Given the description of an element on the screen output the (x, y) to click on. 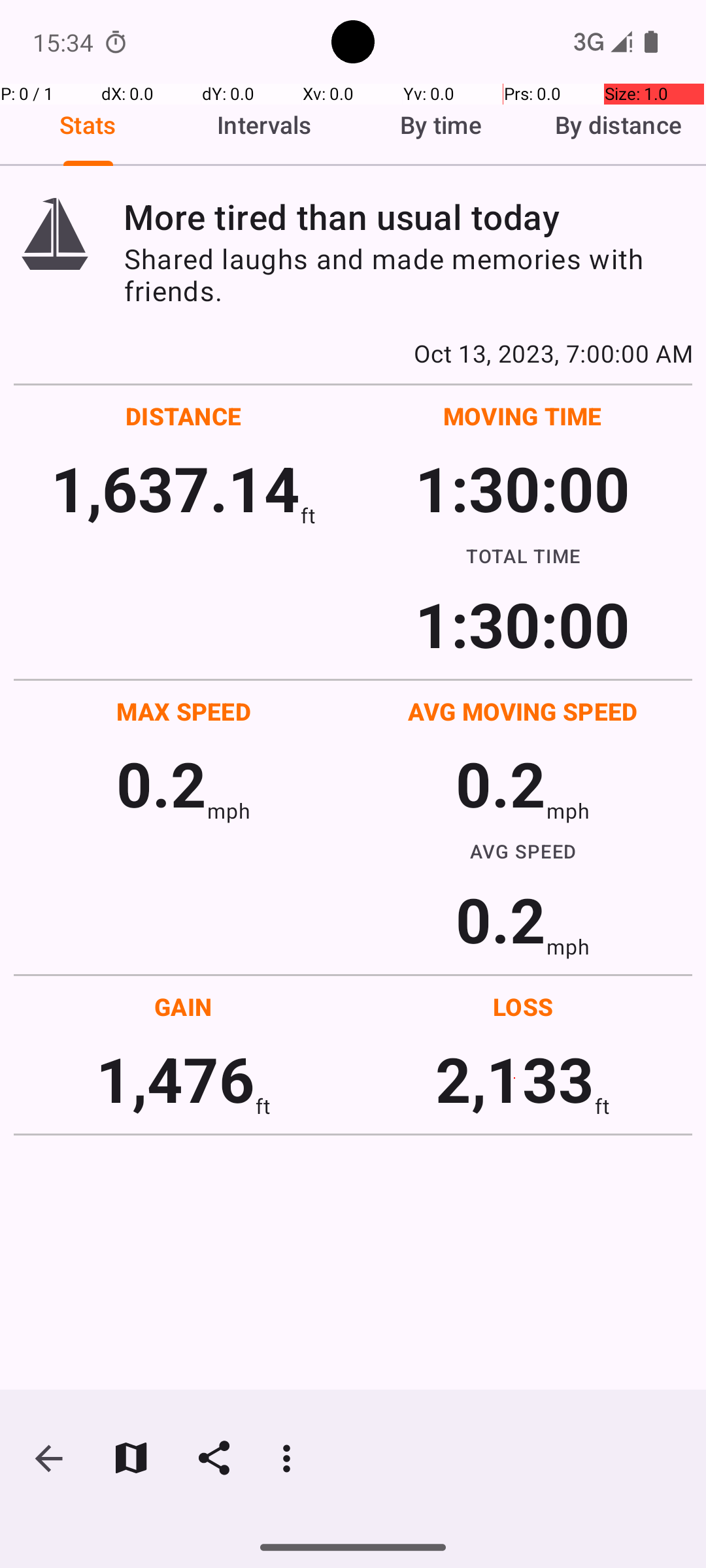
More tired than usual today Element type: android.widget.TextView (407, 216)
Shared laughs and made memories with friends. Element type: android.widget.TextView (407, 274)
Oct 13, 2023, 7:00:00 AM Element type: android.widget.TextView (352, 352)
1,637.14 Element type: android.widget.TextView (175, 487)
1:30:00 Element type: android.widget.TextView (522, 487)
0.2 Element type: android.widget.TextView (161, 782)
1,476 Element type: android.widget.TextView (175, 1077)
2,133 Element type: android.widget.TextView (514, 1077)
